Given the description of an element on the screen output the (x, y) to click on. 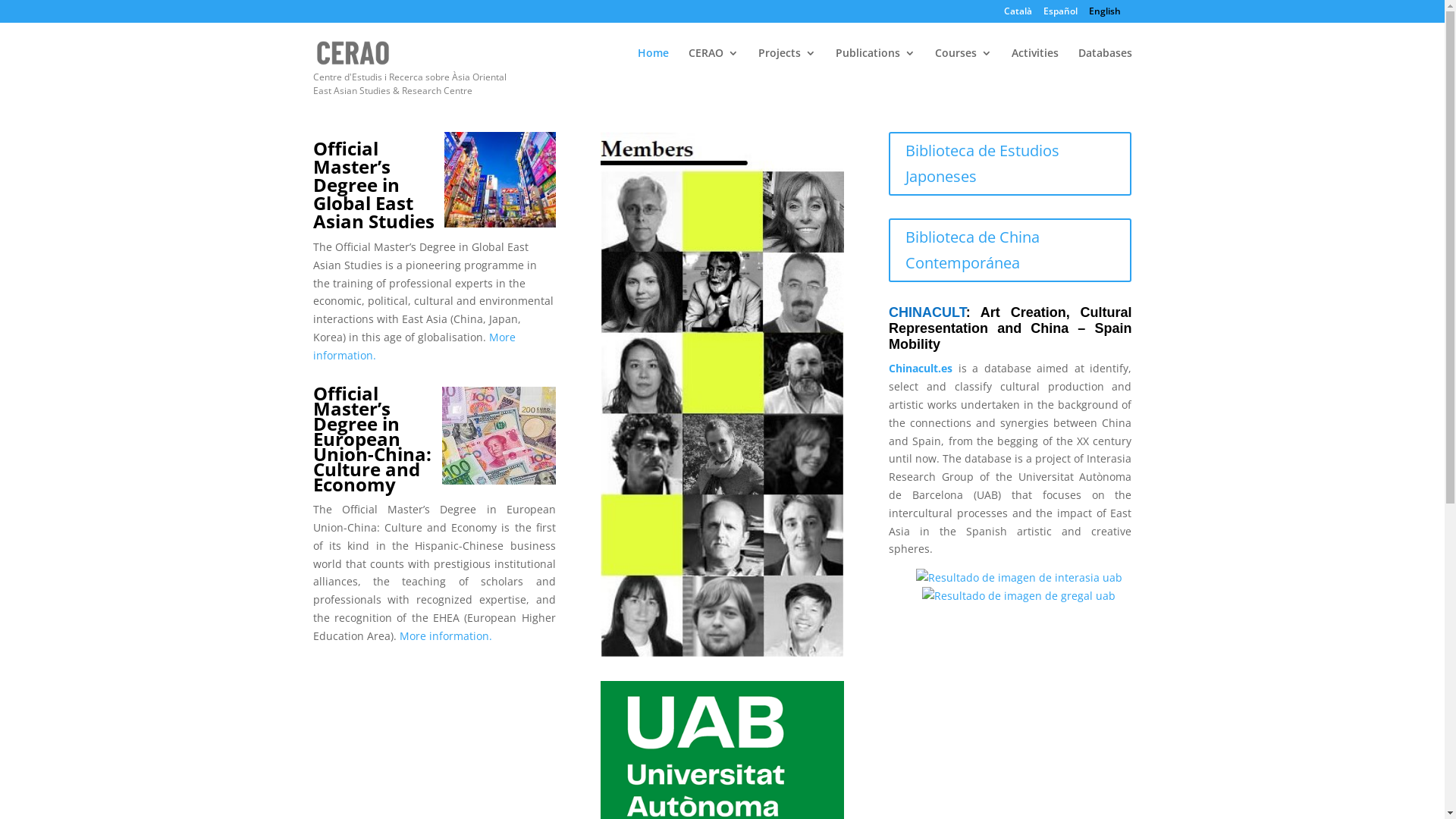
Projects Element type: text (786, 65)
Chinacult.es Element type: text (920, 367)
Activities Element type: text (1034, 65)
CHINACULT Element type: text (927, 312)
More information.  Element type: text (413, 345)
CERAO Element type: text (713, 65)
Publications Element type: text (875, 65)
Courses Element type: text (962, 65)
Biblioteca de Estudios Japoneses Element type: text (1009, 163)
Databases Element type: text (1105, 65)
More information. Element type: text (444, 635)
Home Element type: text (652, 65)
